Given the description of an element on the screen output the (x, y) to click on. 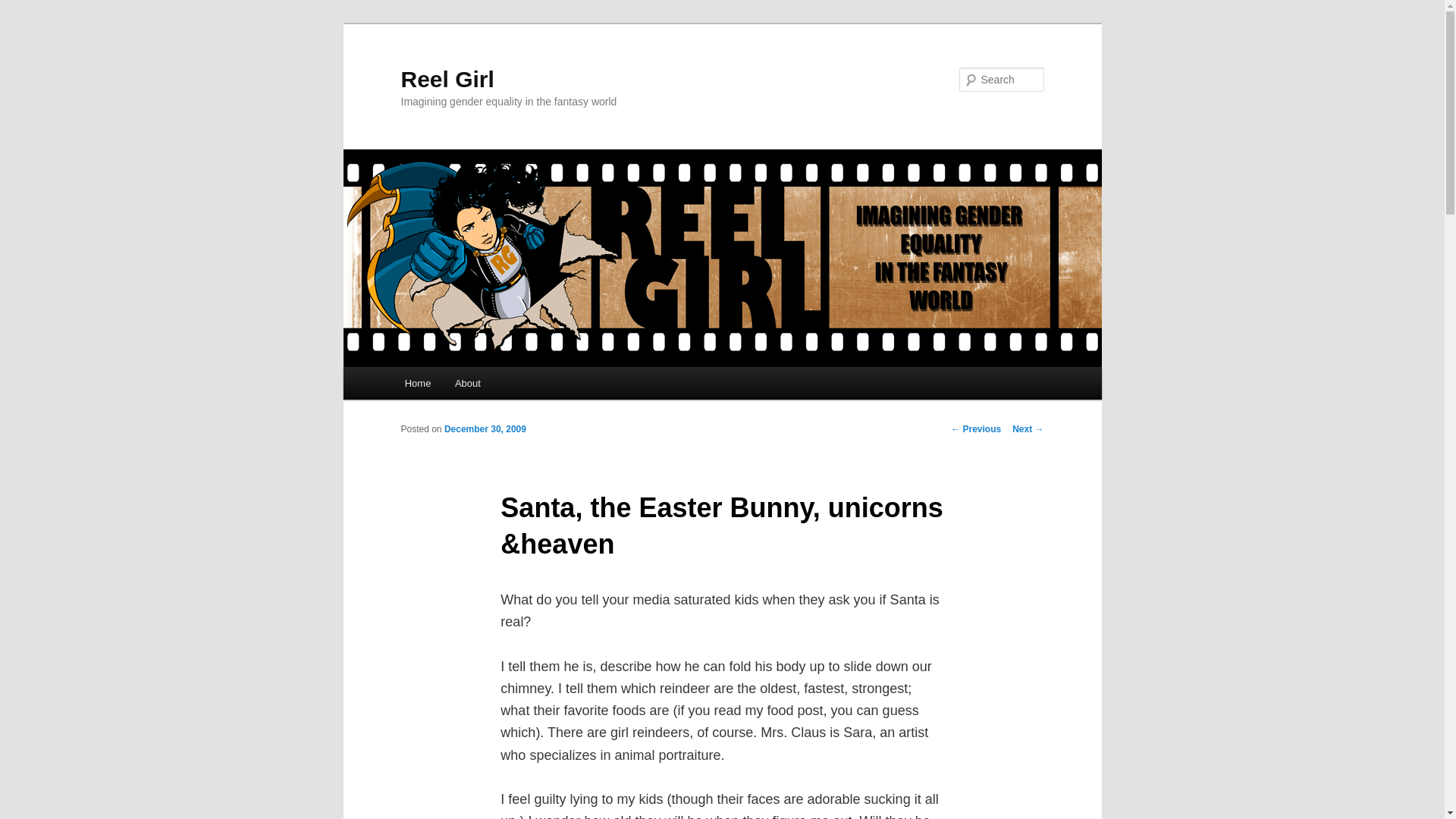
Search (24, 8)
December 30, 2009 (484, 429)
9:26 pm (484, 429)
About (467, 382)
Home (417, 382)
Reel Girl (446, 78)
